Given the description of an element on the screen output the (x, y) to click on. 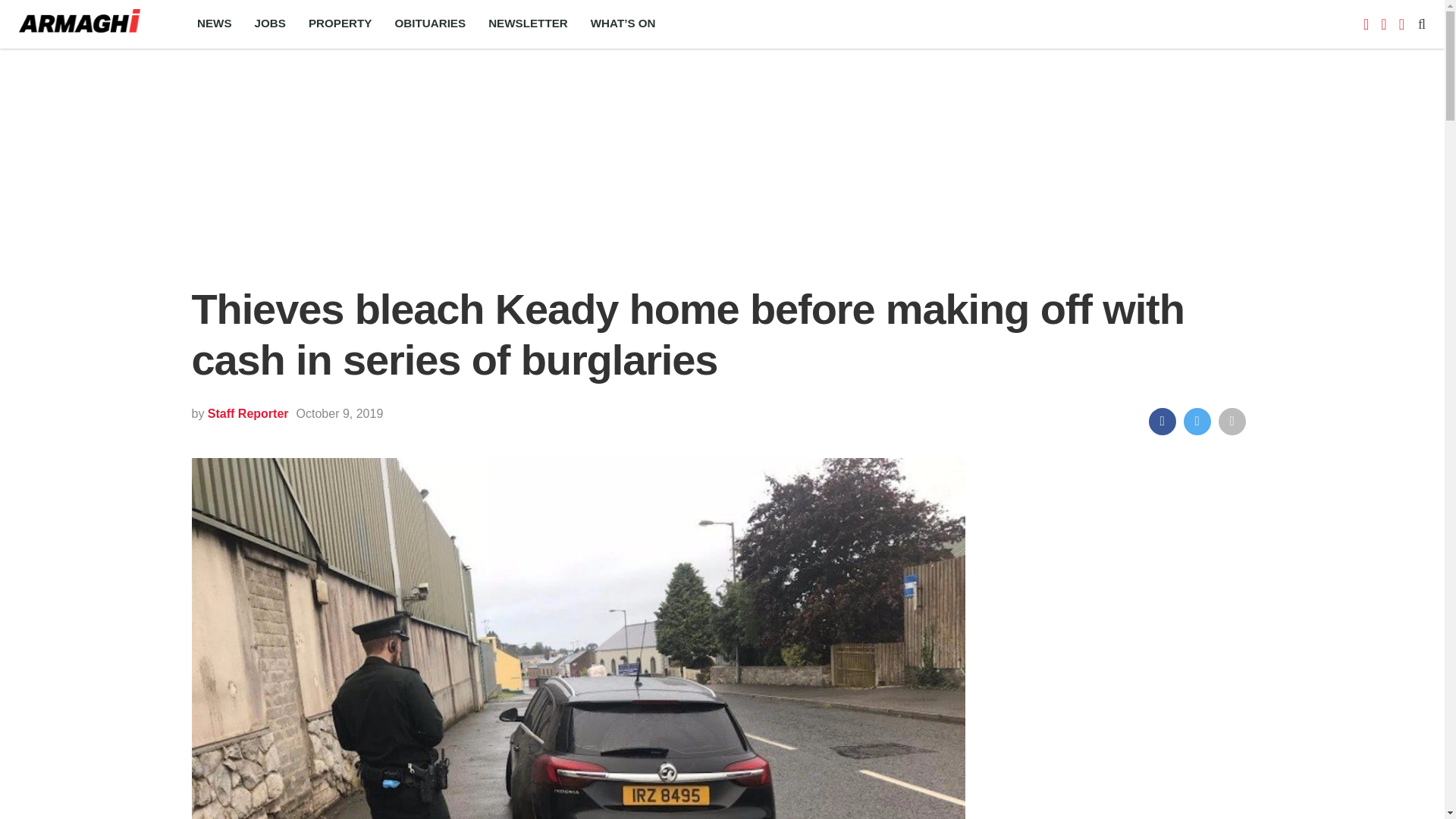
Posts by Staff Reporter (248, 413)
NEWS (214, 24)
